Given the description of an element on the screen output the (x, y) to click on. 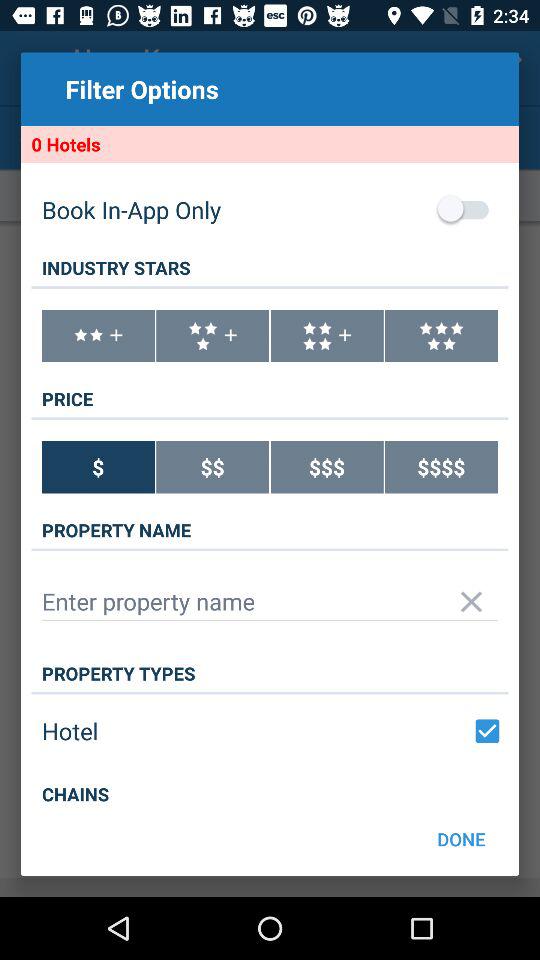
delete writing (471, 601)
